Given the description of an element on the screen output the (x, y) to click on. 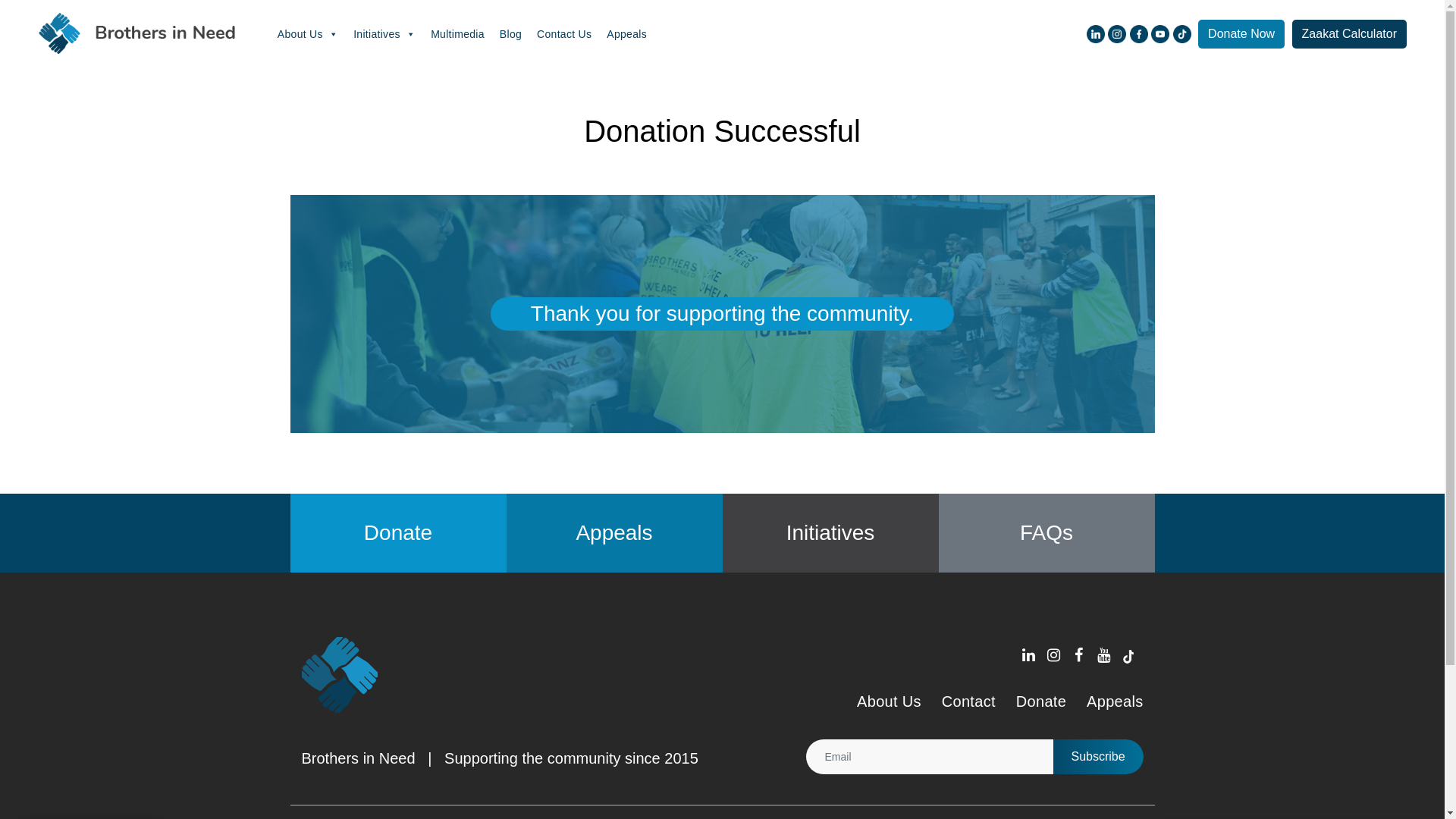
Subscribe Element type: text (1098, 756)
Appeals Element type: text (626, 33)
Donate Element type: text (1041, 701)
logo_Icon Element type: hover (339, 674)
Contact Element type: text (968, 701)
Appeals Element type: text (1114, 701)
Initiatives Element type: text (830, 532)
Multimedia Element type: text (457, 33)
About Us Element type: text (888, 701)
Blog Element type: text (510, 33)
. Element type: text (1053, 654)
Contact Us Element type: text (564, 33)
. Element type: text (1079, 654)
Appeals Element type: text (613, 532)
. Element type: text (1103, 654)
Donate Element type: text (398, 532)
. Element type: text (1029, 654)
About Us Element type: text (307, 33)
Zaakat Calculator Element type: text (1349, 33)
Initiatives Element type: text (384, 33)
Donate Now Element type: text (1241, 33)
FAQs Element type: text (1046, 532)
